Given the description of an element on the screen output the (x, y) to click on. 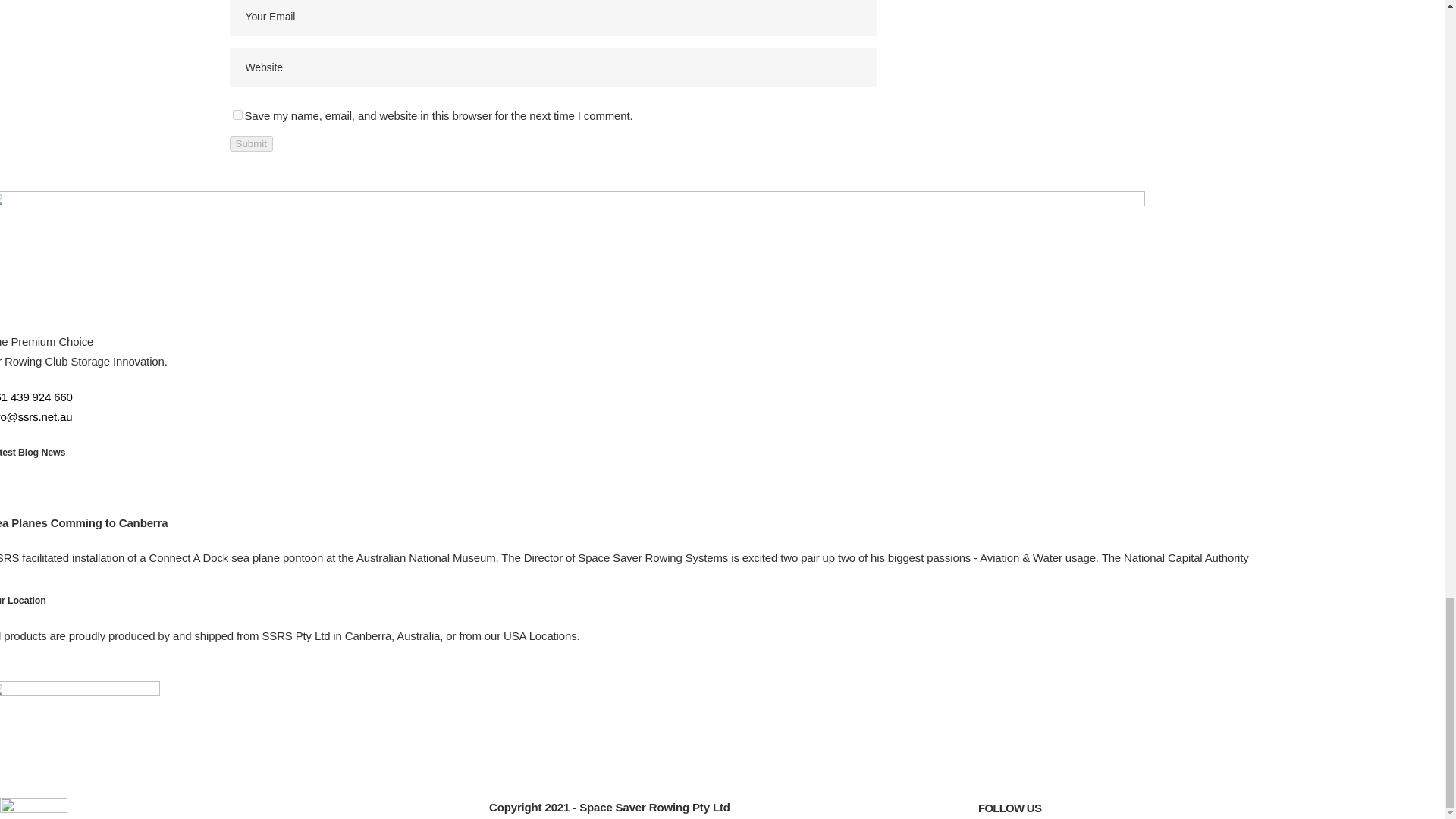
yes (236, 114)
Submit (250, 143)
Sea Planes Comming to Canberra (83, 522)
